Given the description of an element on the screen output the (x, y) to click on. 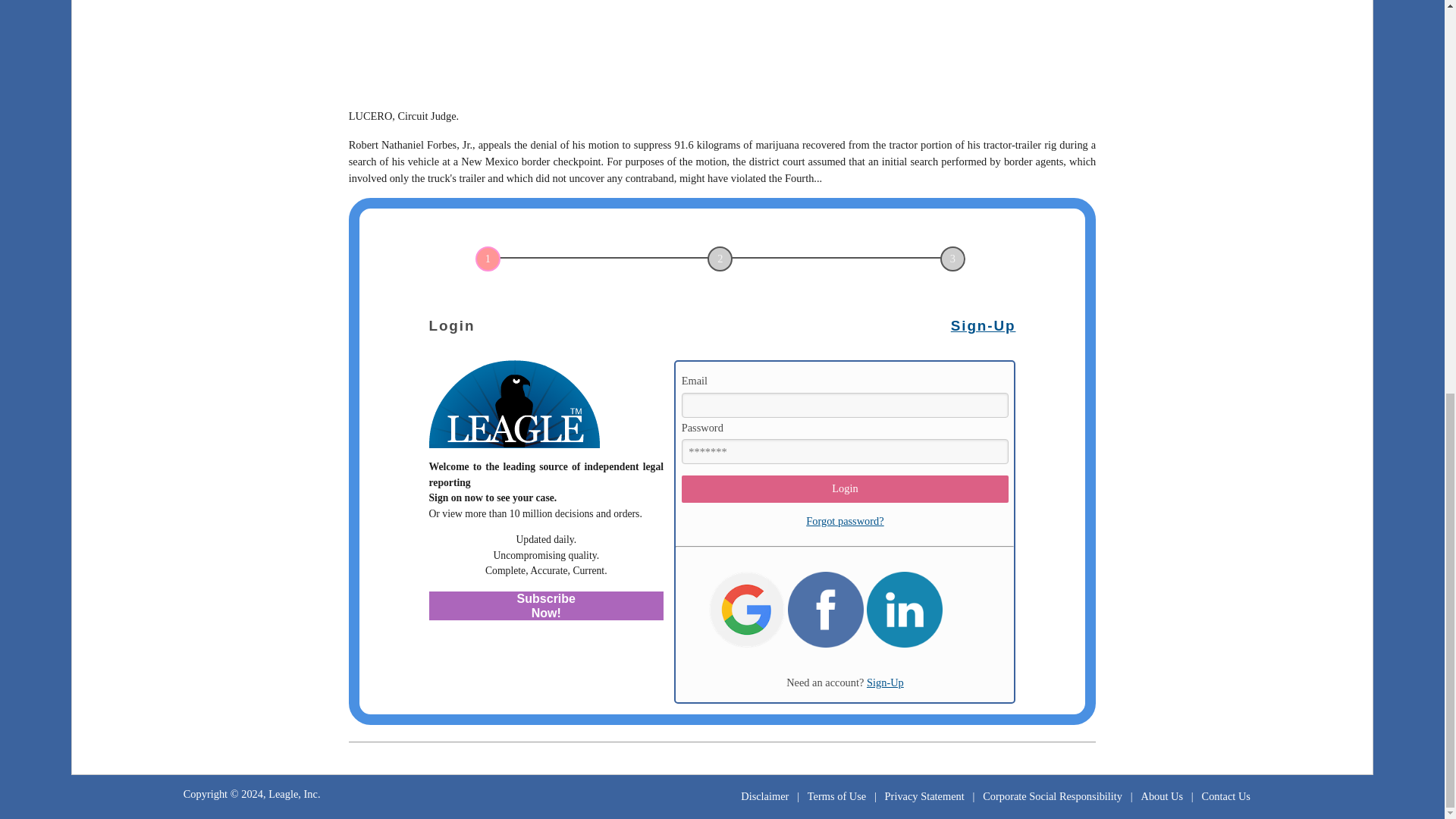
Disclaimer (765, 795)
Sign-Up (983, 325)
Terms of Use (837, 795)
Corporate Social Responsibility (1052, 795)
Advertisement (722, 48)
Contact Us (1225, 795)
Forgot password? (844, 521)
About Us (1162, 795)
Privacy Statement (924, 795)
Sign-Up (885, 682)
Login (845, 488)
